Given the description of an element on the screen output the (x, y) to click on. 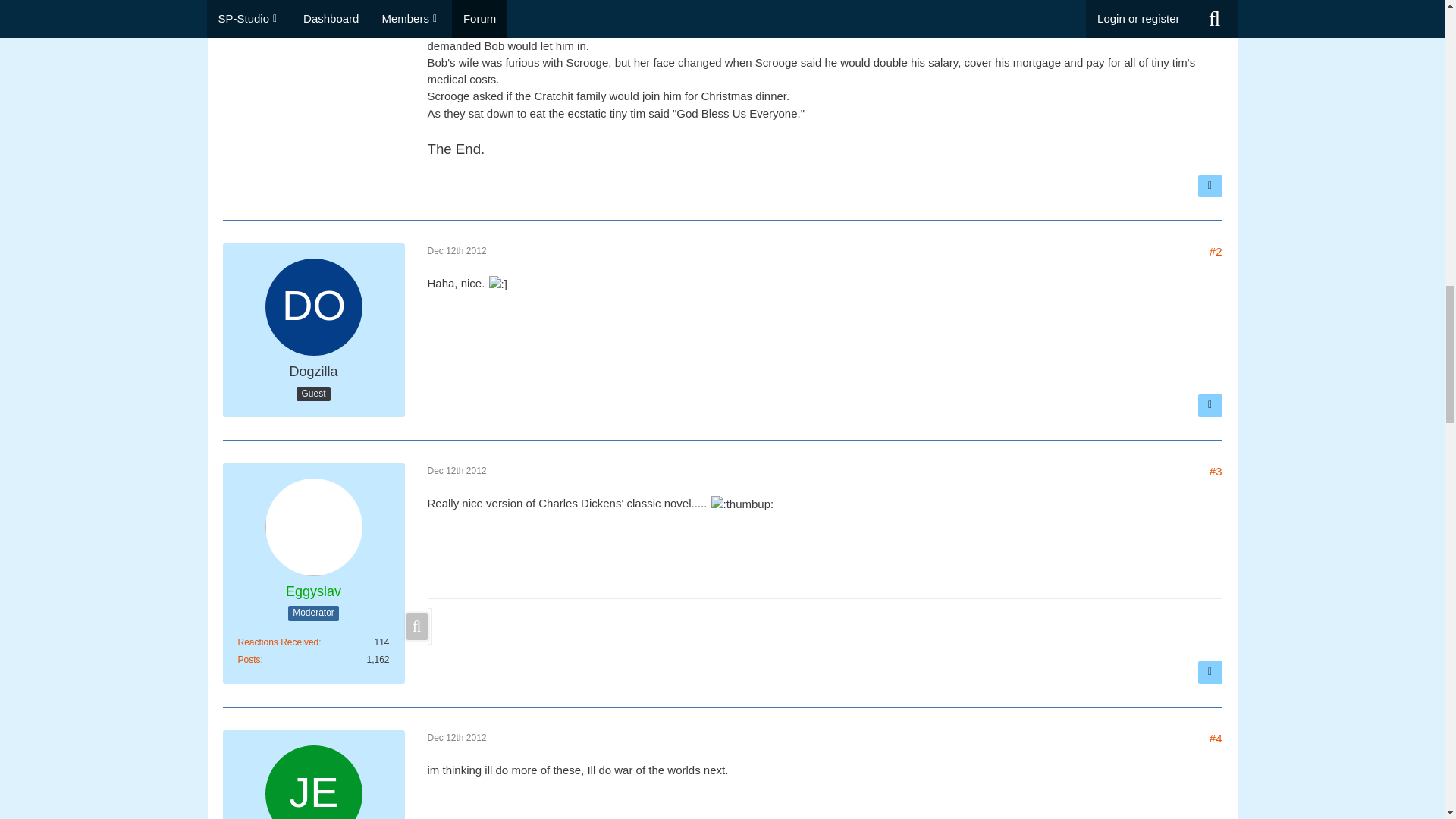
pleased (497, 284)
thumbup (742, 504)
